Given the description of an element on the screen output the (x, y) to click on. 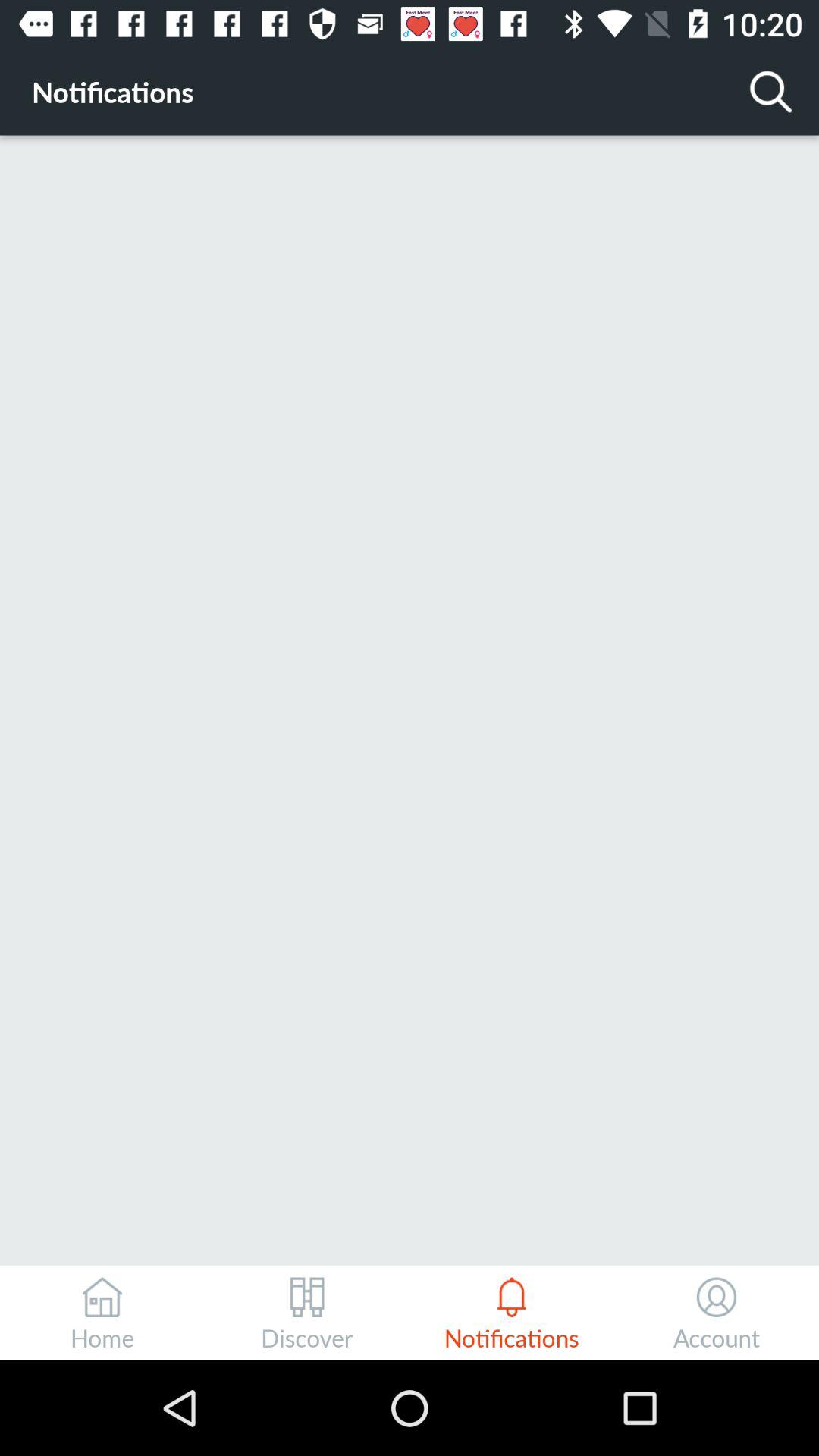
open icon next to the notifications item (771, 91)
